Given the description of an element on the screen output the (x, y) to click on. 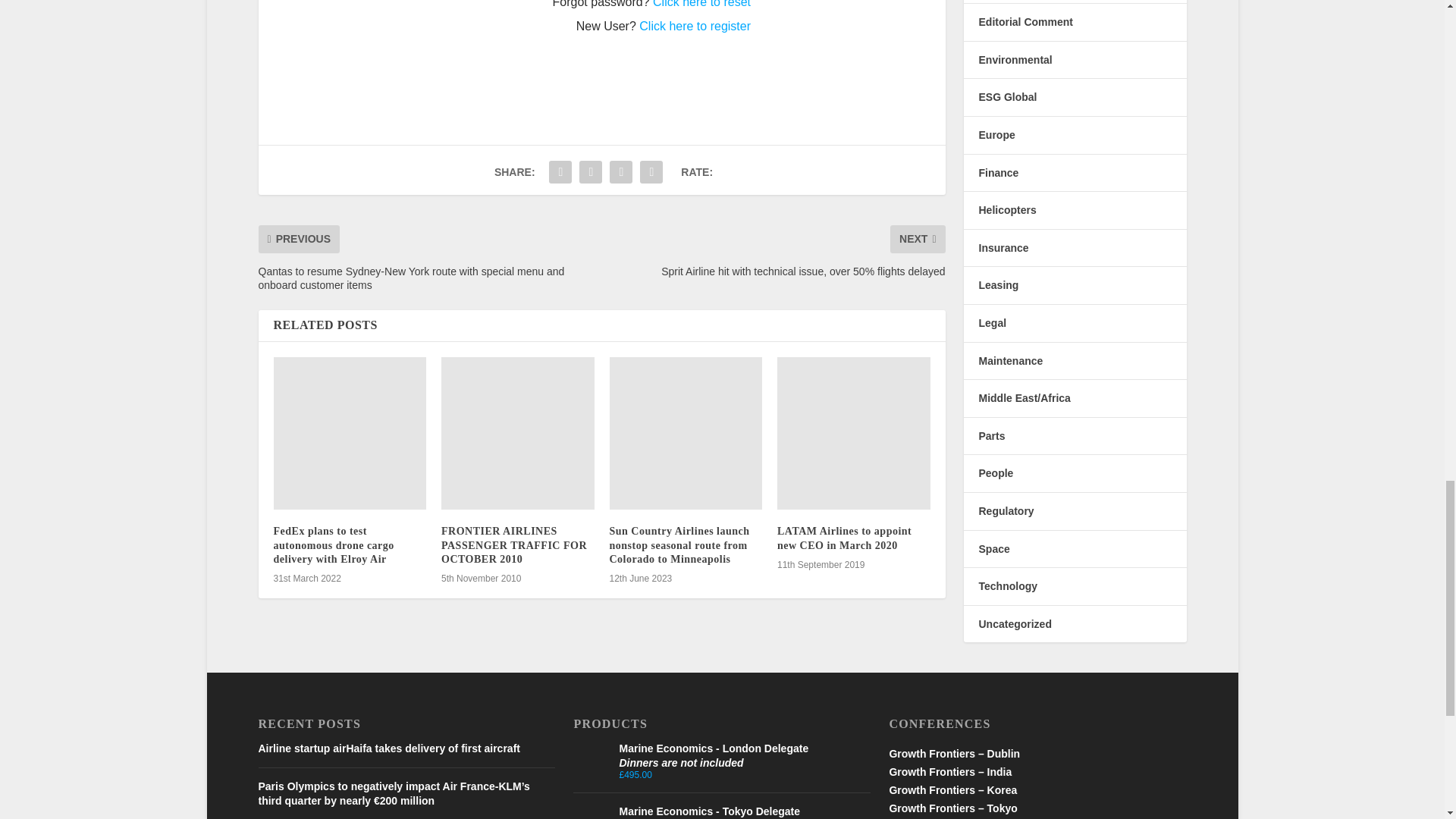
LATAM Airlines to appoint new CEO in March 2020 (853, 433)
FRONTIER AIRLINES PASSENGER TRAFFIC FOR OCTOBER 2010 (517, 433)
